Given the description of an element on the screen output the (x, y) to click on. 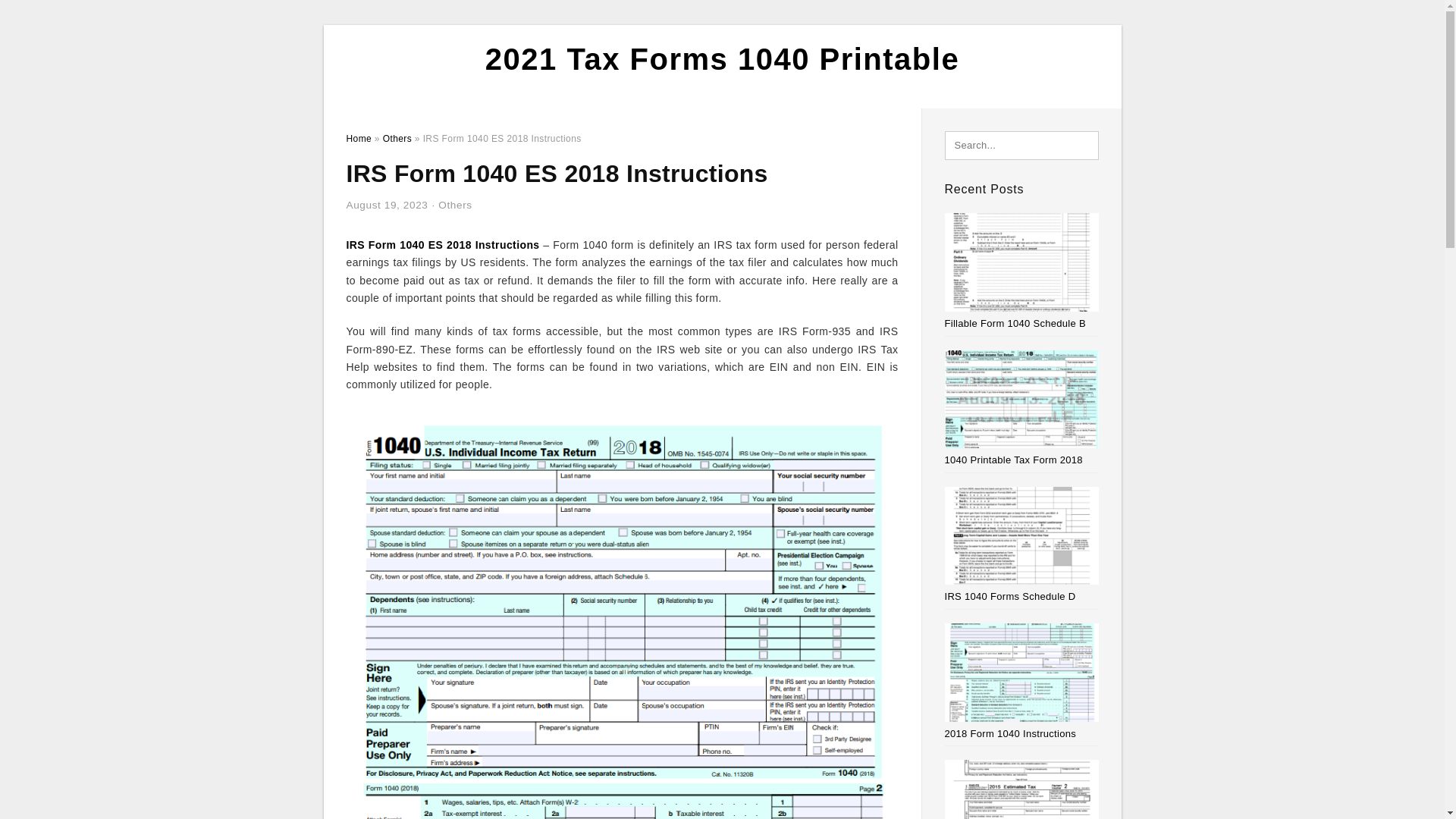
Home (358, 138)
1040 Printable Tax Form 2018 (1013, 460)
IRS Form 1040 ES 2018 Instructions (442, 244)
Others (454, 204)
2018 Form 1040 Instructions Schedule 2 (1010, 733)
Fillable Form 1040 Schedule B (1015, 323)
2018 Form 1040 Instructions (1010, 733)
Others (397, 138)
Fillable Form 1040 Schedule B (1015, 323)
1040 Printable Tax Form 2018 (1013, 460)
Search for: (1021, 145)
2021 Tax Forms 1040 Printable (721, 59)
IRS 1040 Forms Schedule D (1009, 595)
